Given the description of an element on the screen output the (x, y) to click on. 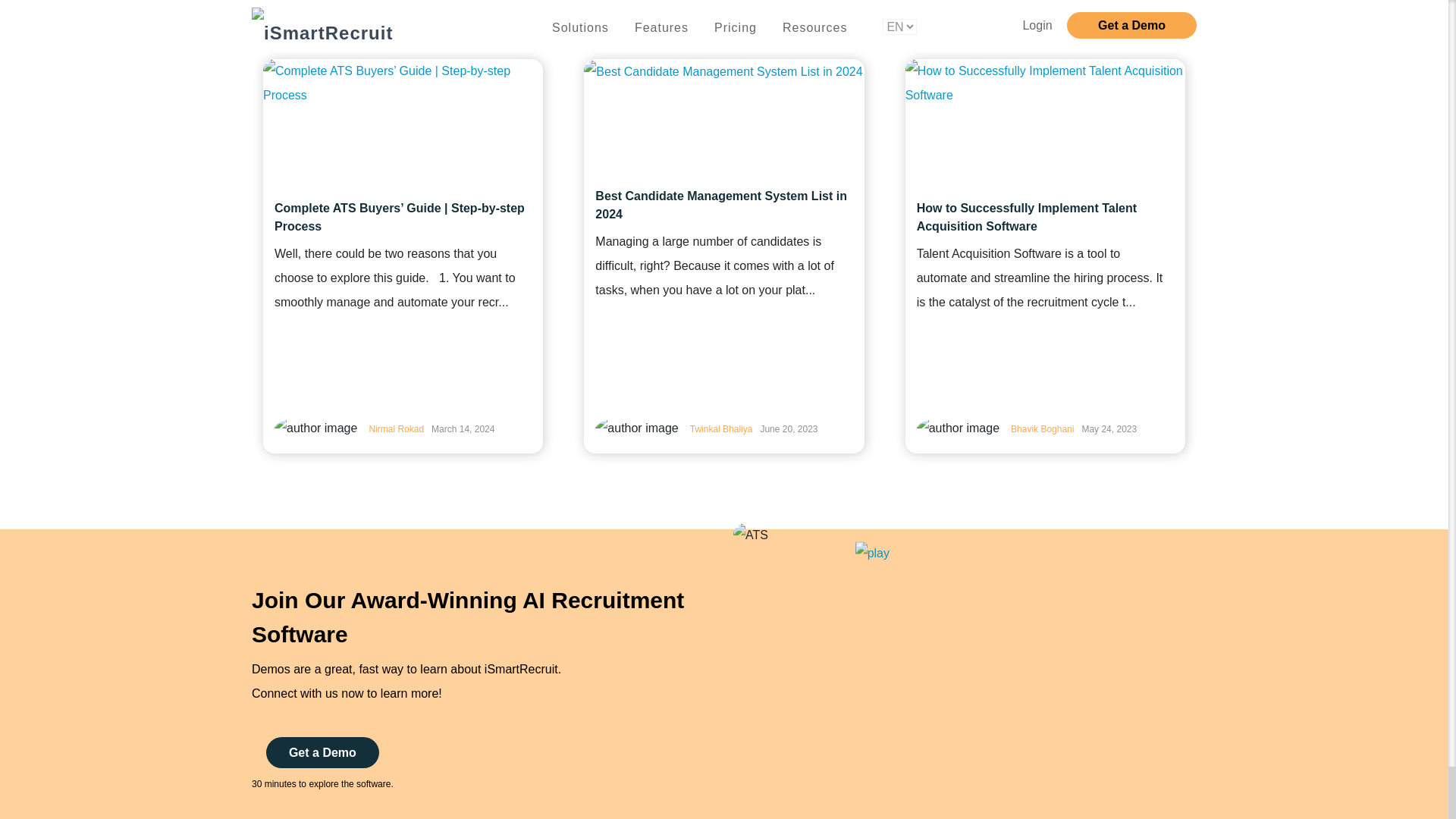
Best Candidate Management System List in 2024 (723, 205)
Posts by Bhavik Boghani (1042, 429)
How to Successfully Implement Talent Acquisition Software (1045, 217)
Posts by Nirmal Rokad (395, 429)
Posts by Twinkal Bhaliya (721, 429)
